Given the description of an element on the screen output the (x, y) to click on. 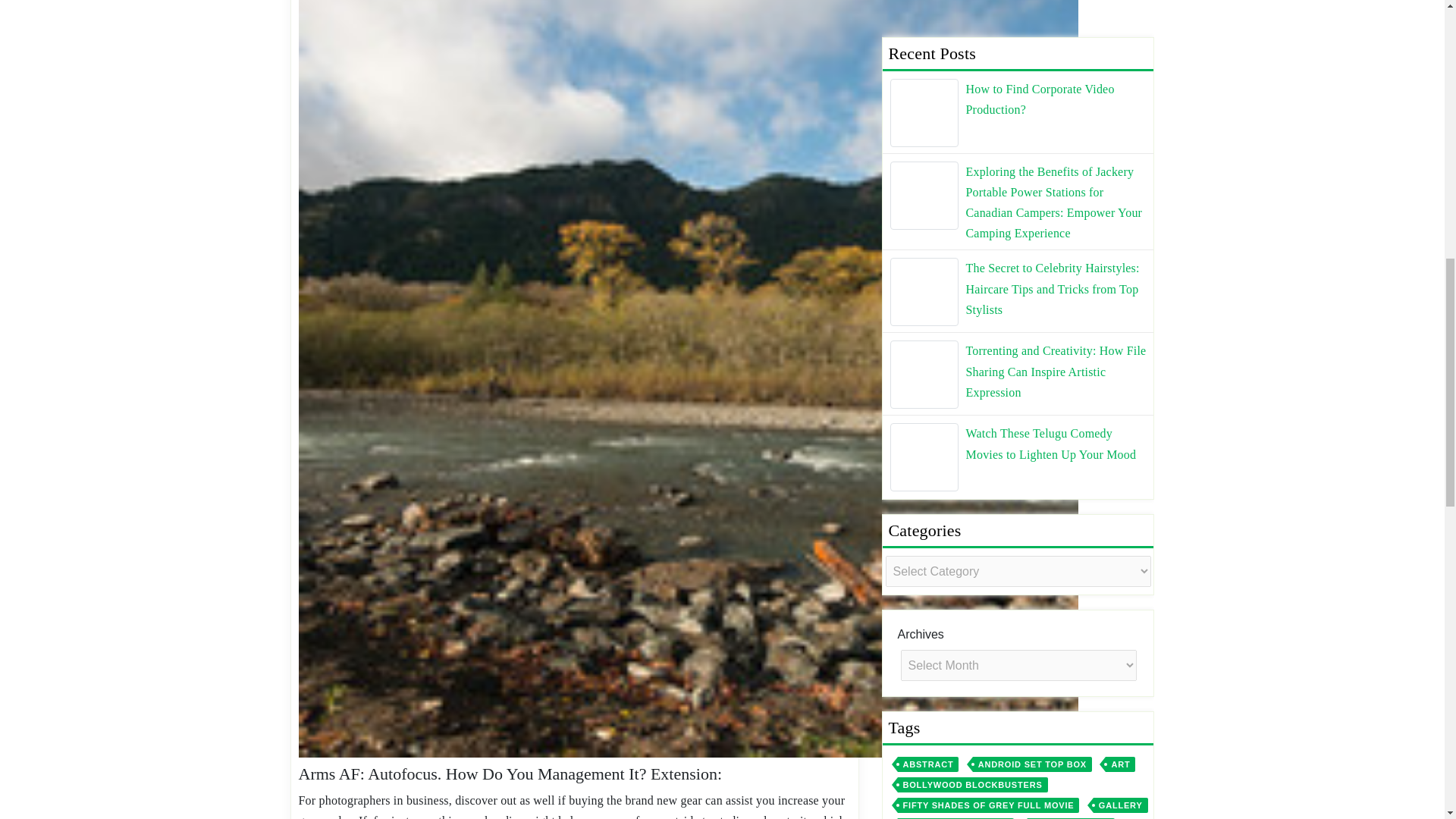
FIFTY SHADES OF GREY FULL MOVIE (989, 187)
ART (1120, 146)
ABSTRACT (928, 146)
BOLLYWOOD BLOCKBUSTERS (973, 167)
GALLERY (1120, 187)
ANDROID SET TOP BOX (1032, 146)
